Given the description of an element on the screen output the (x, y) to click on. 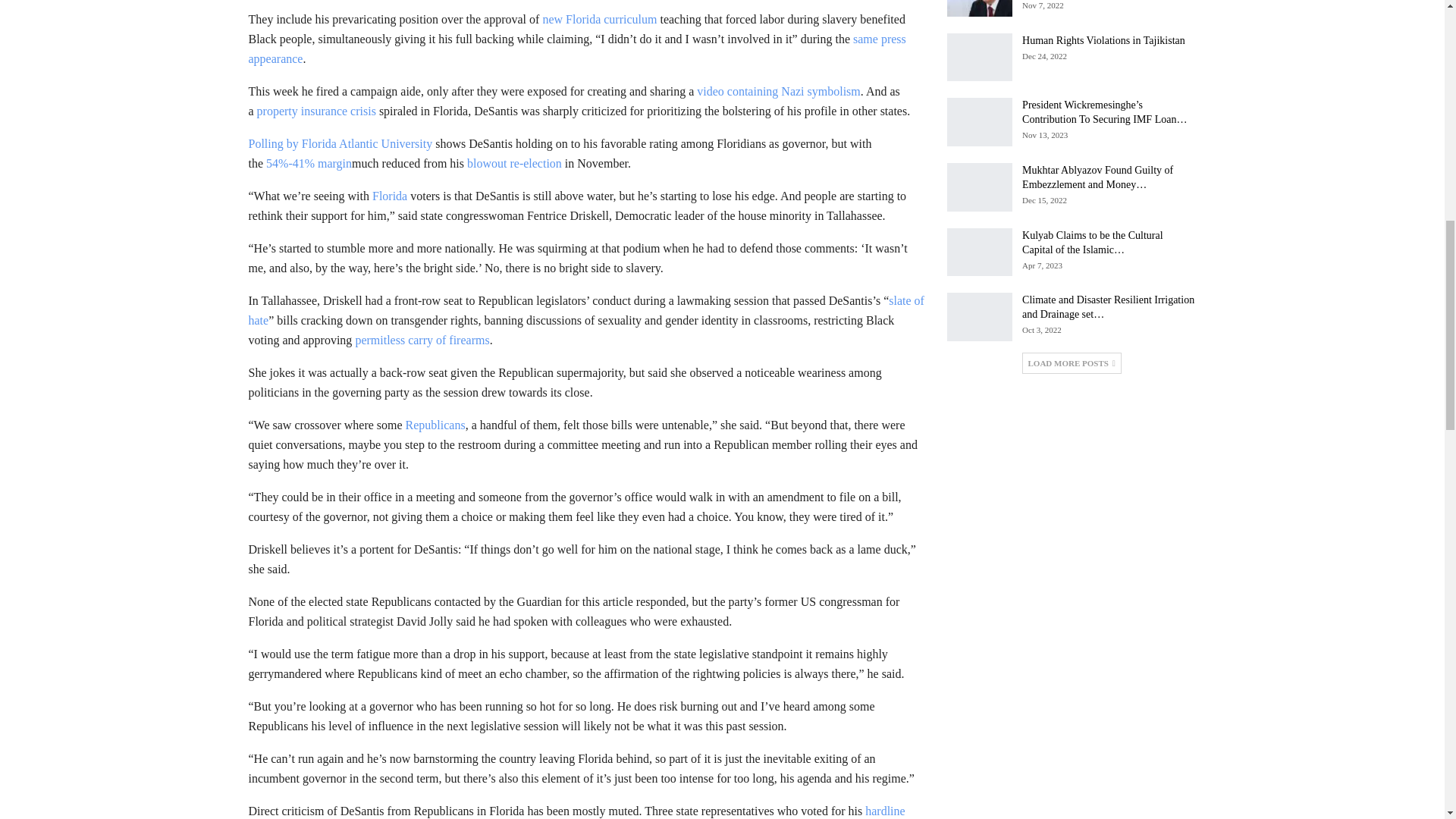
Kazakhstan Resumed Celebrating Republic Day After 13 Years (979, 8)
Human Rights Violations in Tajikistan (979, 57)
